Given the description of an element on the screen output the (x, y) to click on. 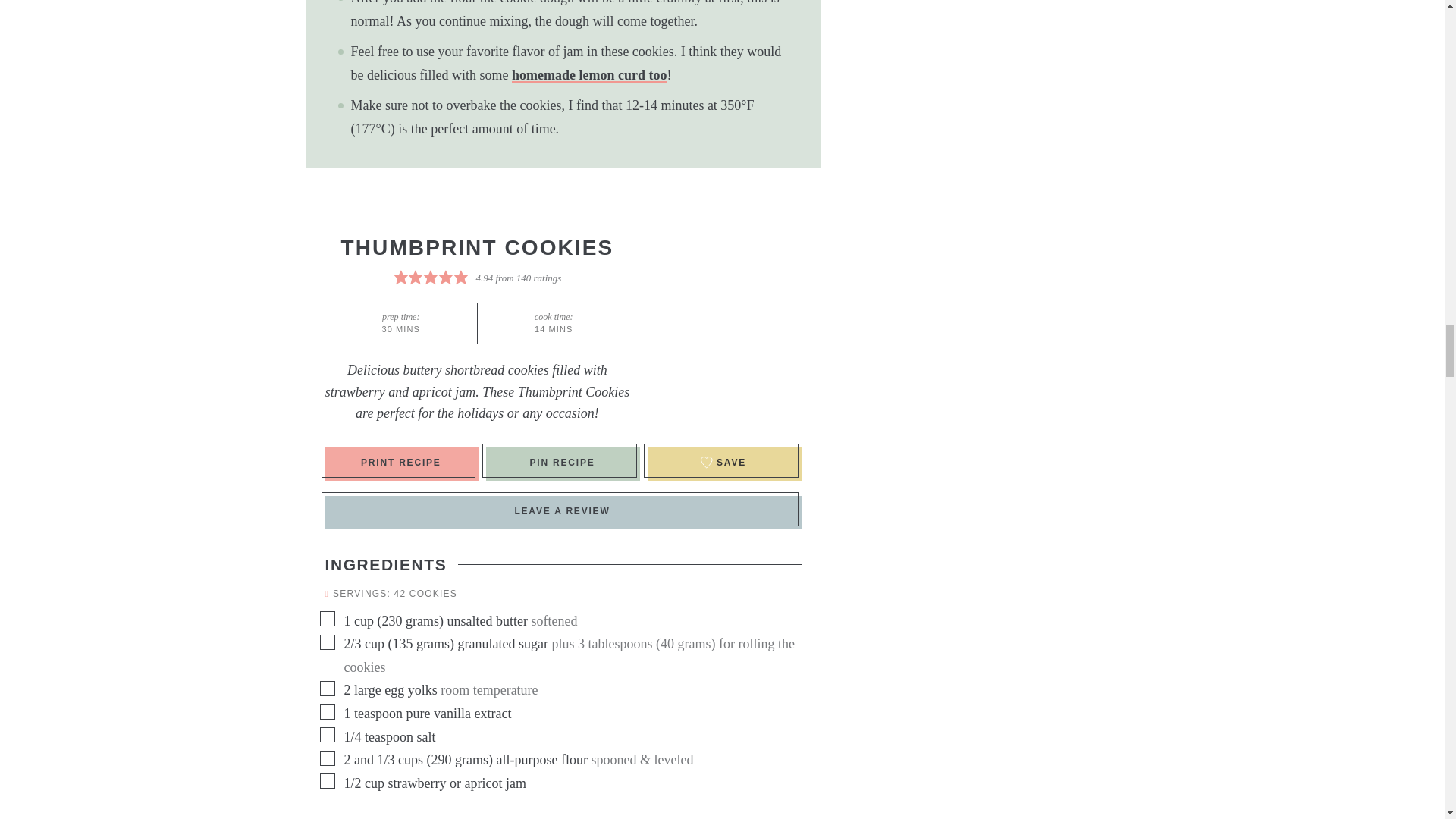
homemade lemon curd too (589, 75)
